Given the description of an element on the screen output the (x, y) to click on. 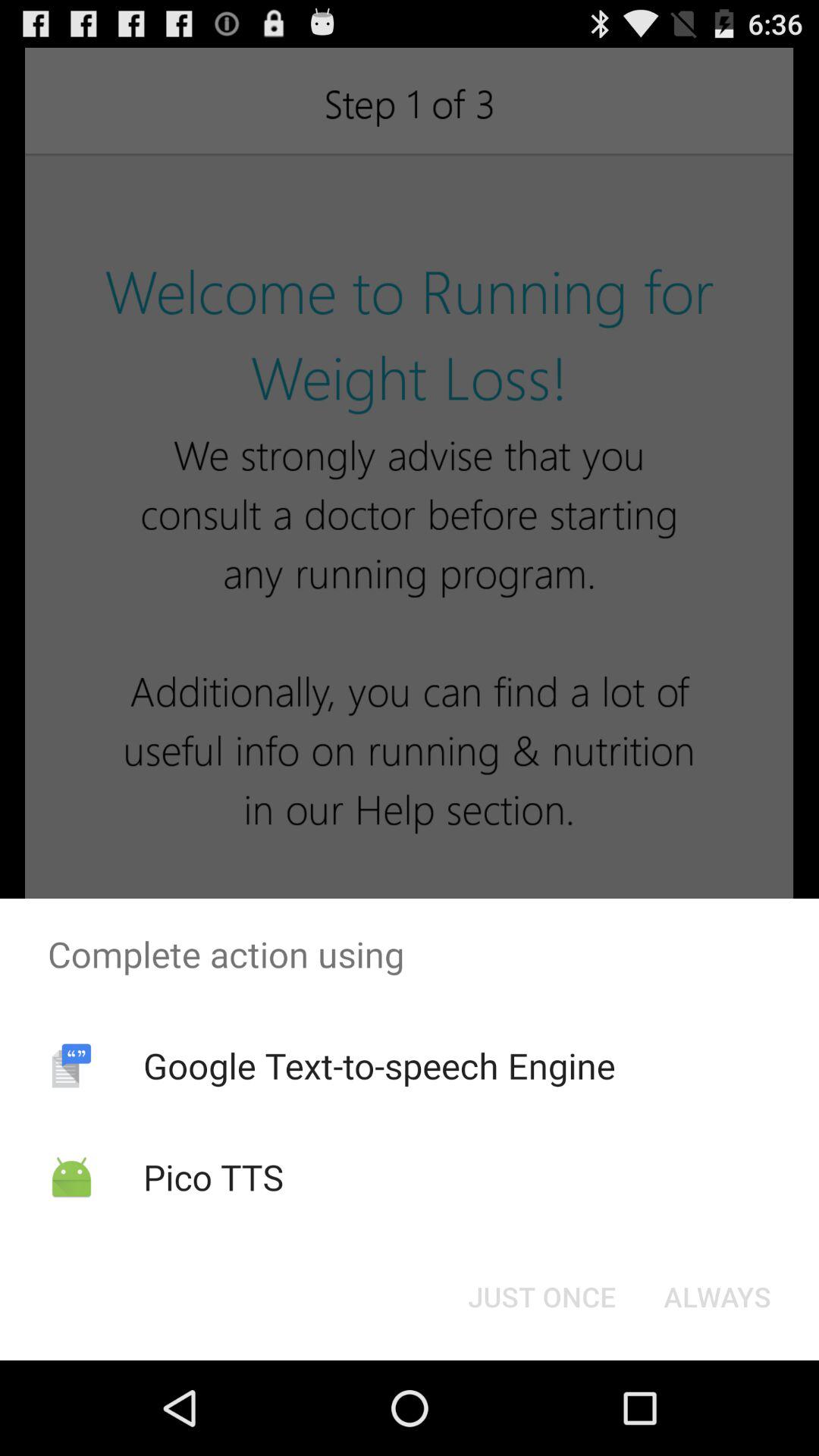
choose icon above pico tts (379, 1065)
